Given the description of an element on the screen output the (x, y) to click on. 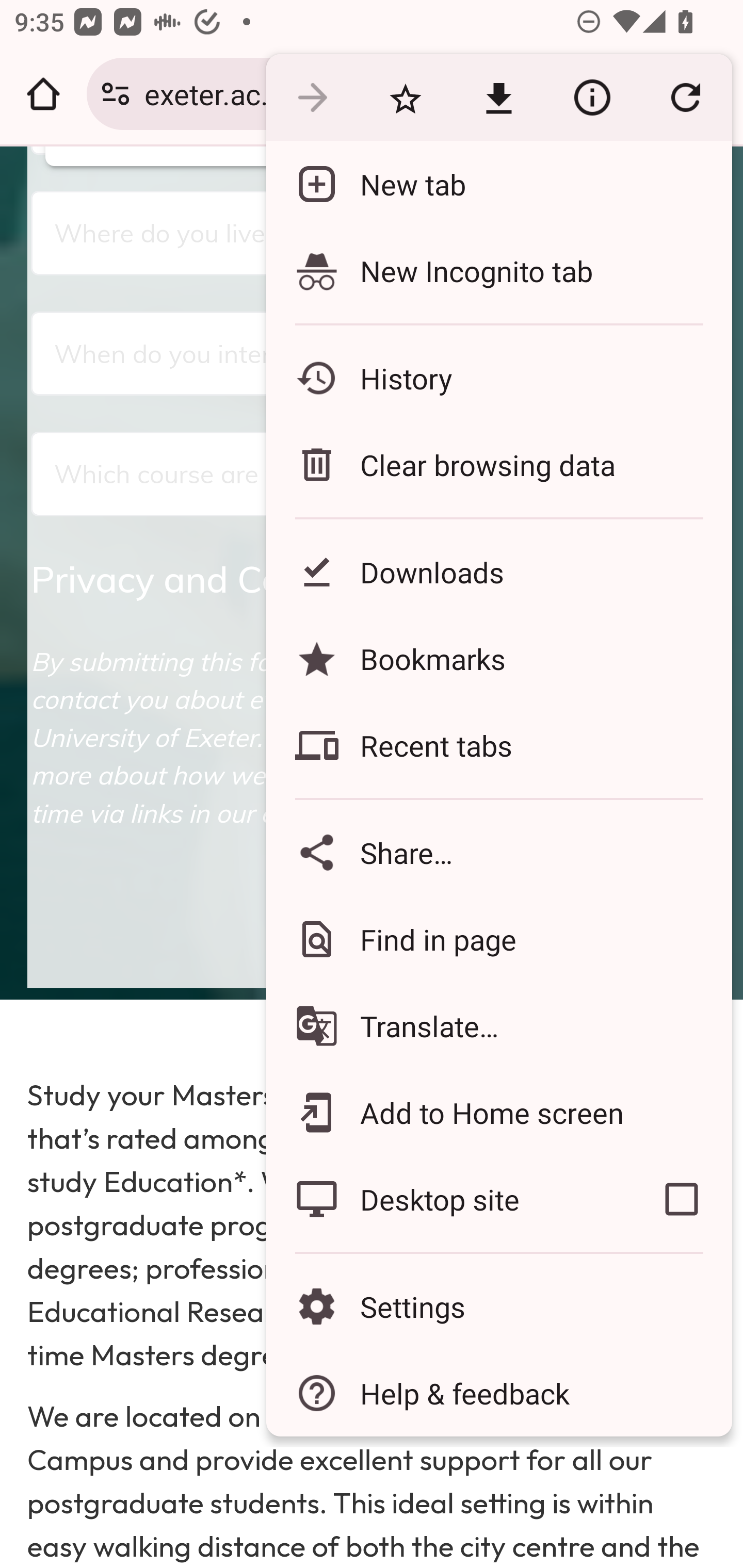
Forward (311, 97)
Bookmark (404, 97)
Download (498, 97)
Page info (591, 97)
Refresh (684, 97)
New tab (498, 184)
New Incognito tab (498, 270)
History (498, 377)
Clear browsing data (498, 464)
Downloads (498, 571)
Bookmarks (498, 658)
Recent tabs (498, 745)
Share… (498, 852)
Find in page (498, 939)
Translate… (498, 1026)
Add to Home screen (498, 1112)
Desktop site Turn on Request desktop site (447, 1198)
Settings (498, 1306)
Help & feedback (498, 1393)
